Given the description of an element on the screen output the (x, y) to click on. 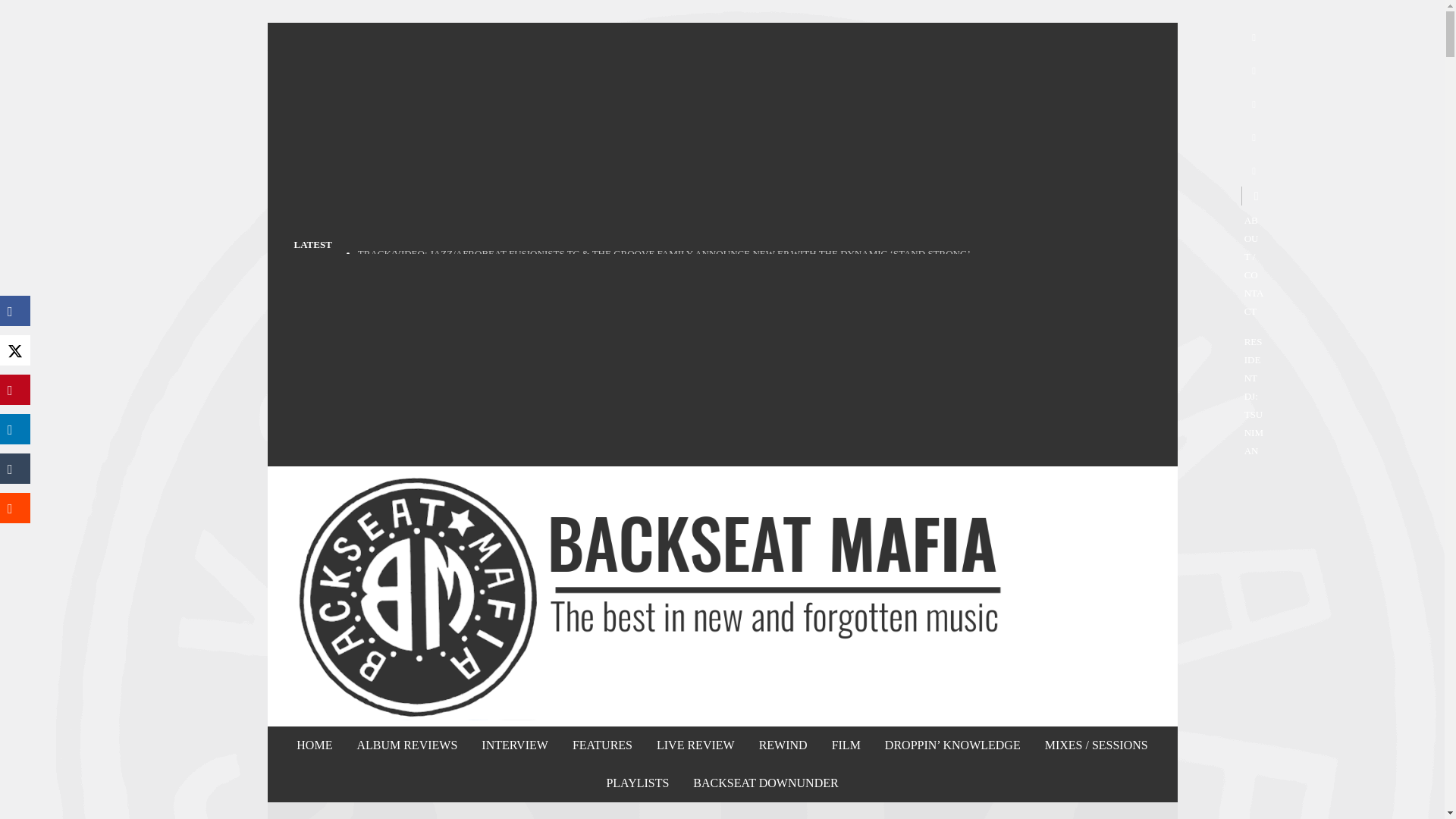
INTERVIEW (514, 745)
FEATURES (602, 745)
FILM (845, 745)
HOME (313, 745)
REWIND (782, 745)
PLAYLISTS (637, 783)
ALBUM REVIEWS (405, 745)
LIVE REVIEW (695, 745)
